Given the description of an element on the screen output the (x, y) to click on. 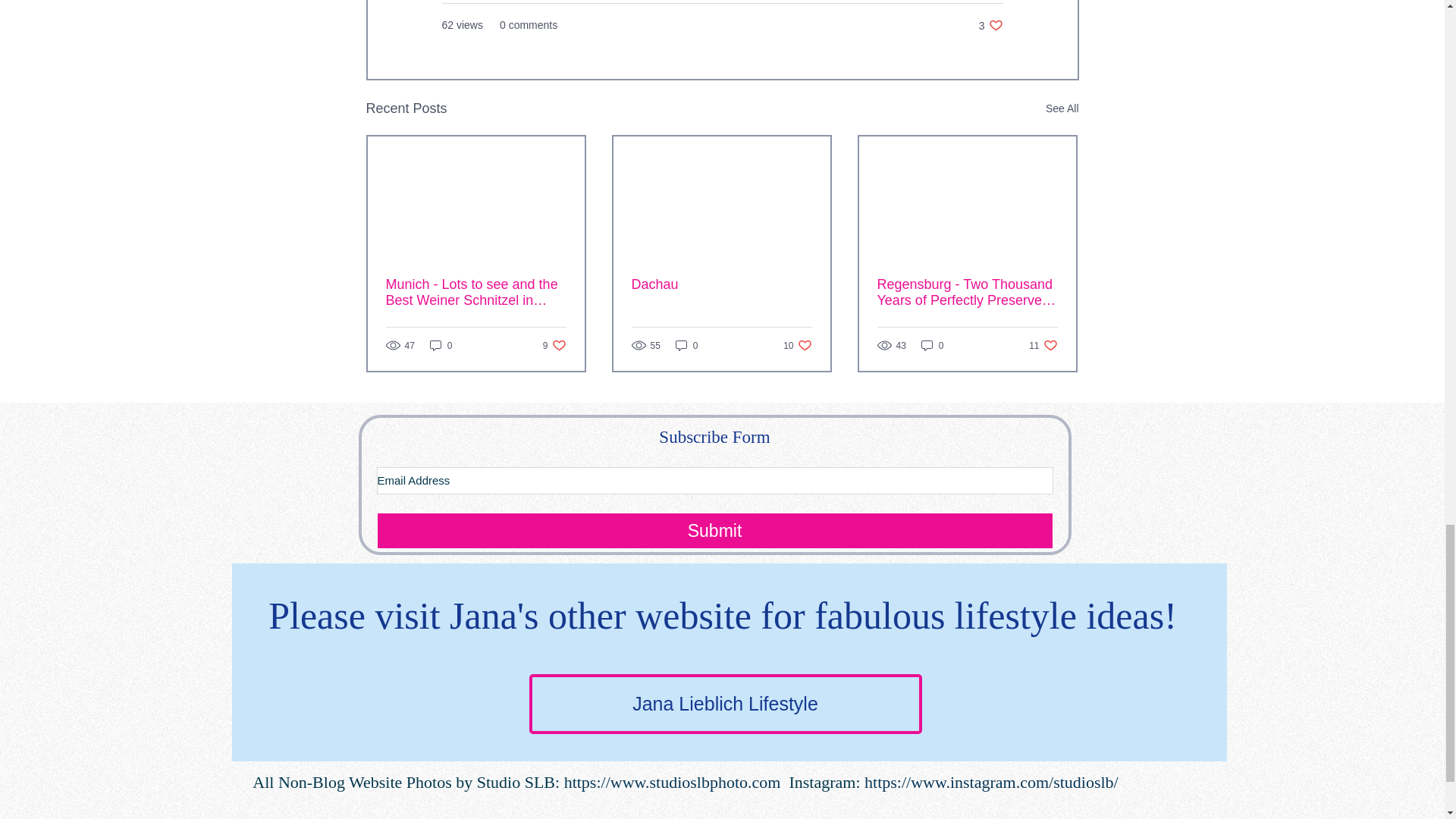
Dachau (990, 25)
See All (554, 345)
0 (720, 284)
0 (1061, 108)
0 (932, 345)
Submit (441, 345)
